Given the description of an element on the screen output the (x, y) to click on. 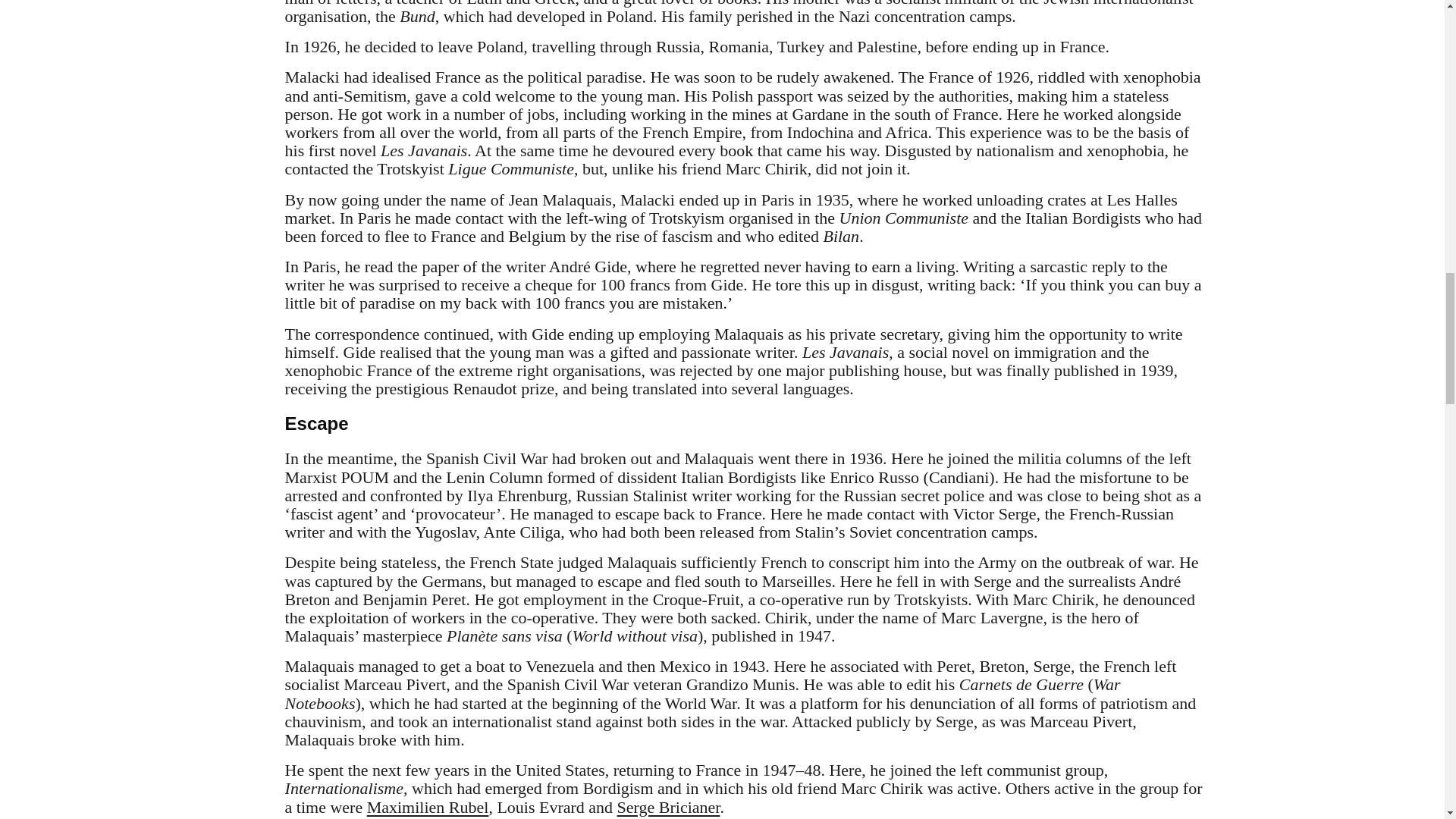
Serge Bricianer (668, 806)
Maximilien Rubel (427, 806)
